Given the description of an element on the screen output the (x, y) to click on. 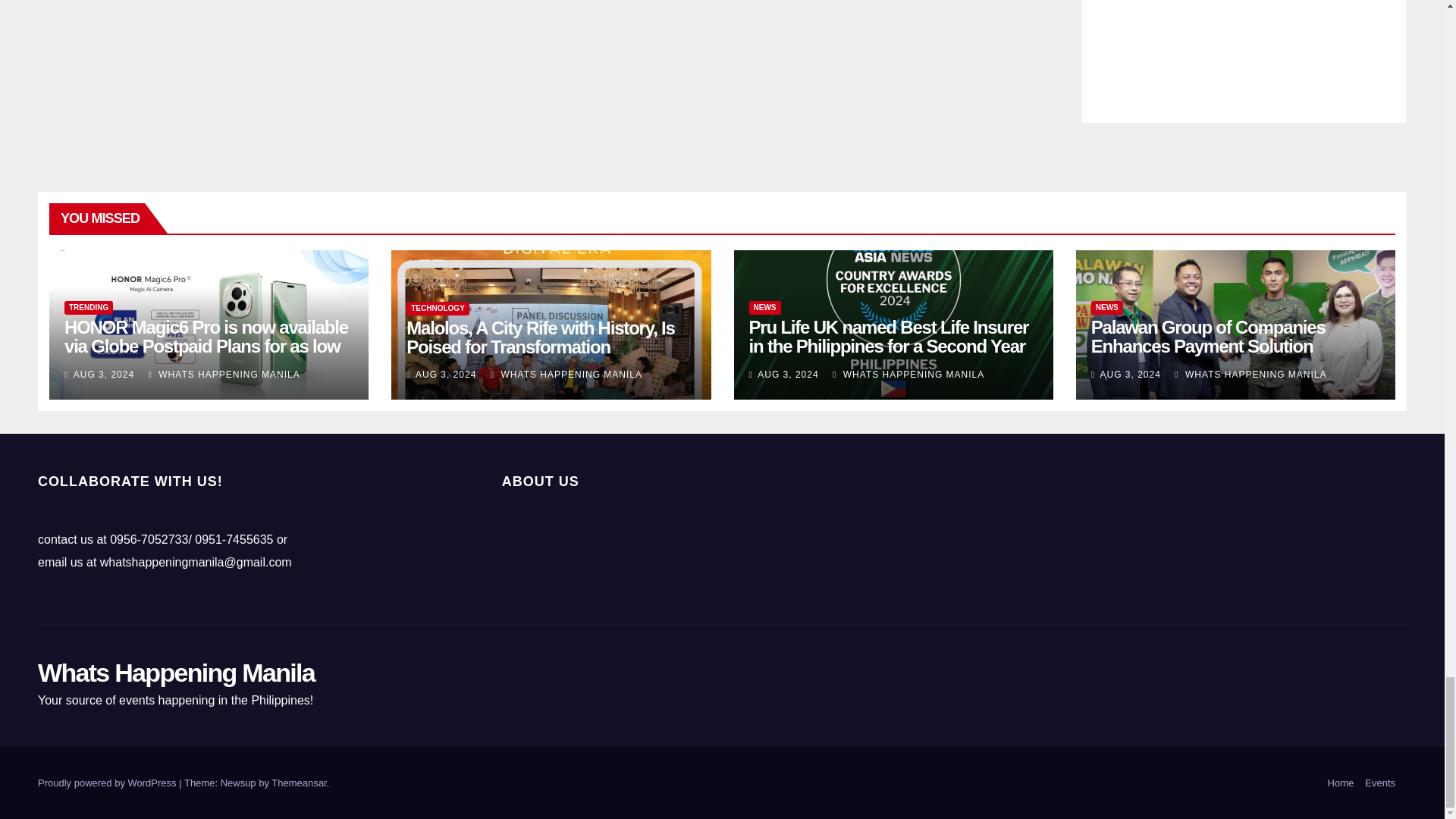
Home (1340, 782)
